Given the description of an element on the screen output the (x, y) to click on. 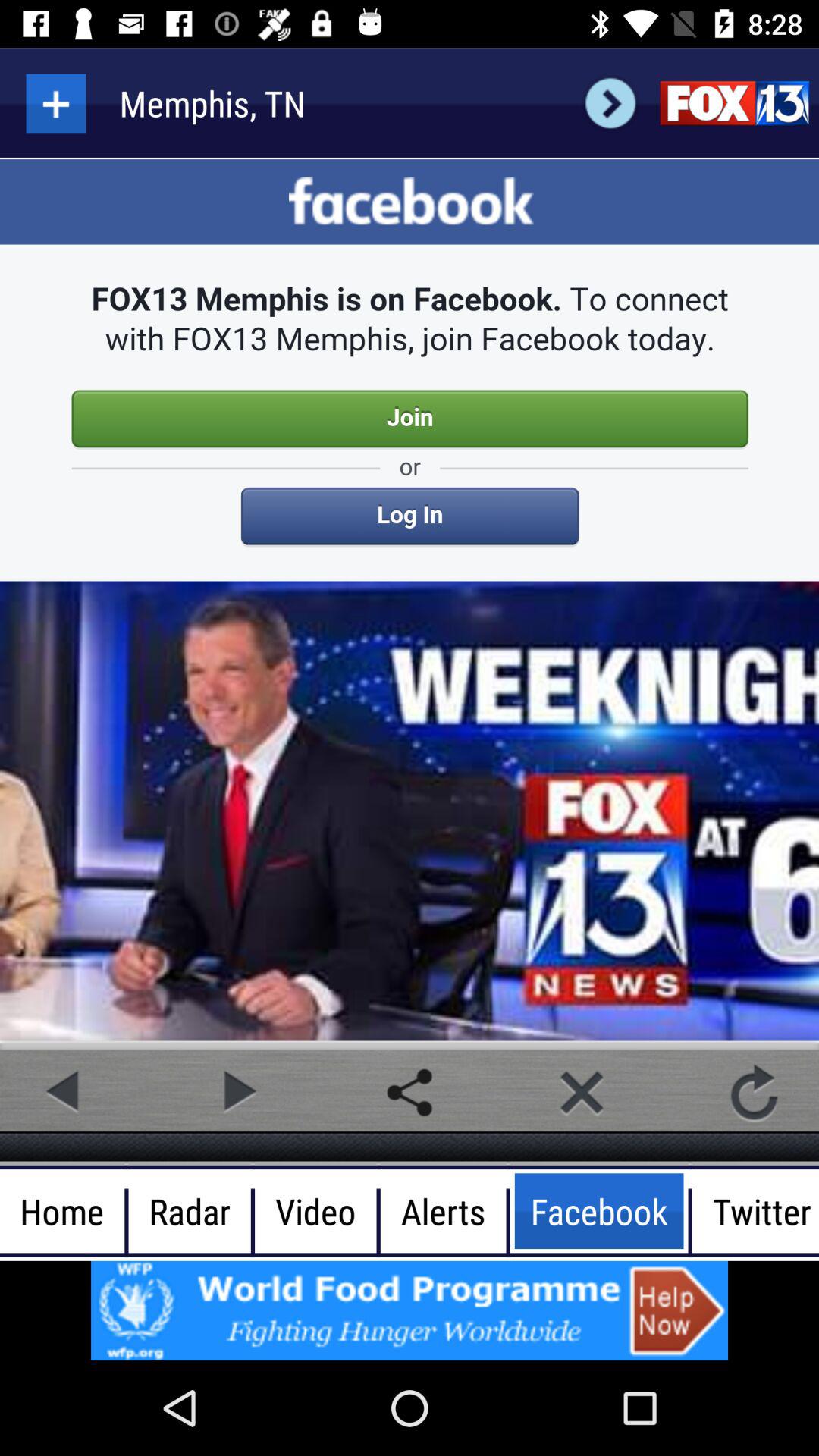
facebook content (409, 601)
